Given the description of an element on the screen output the (x, y) to click on. 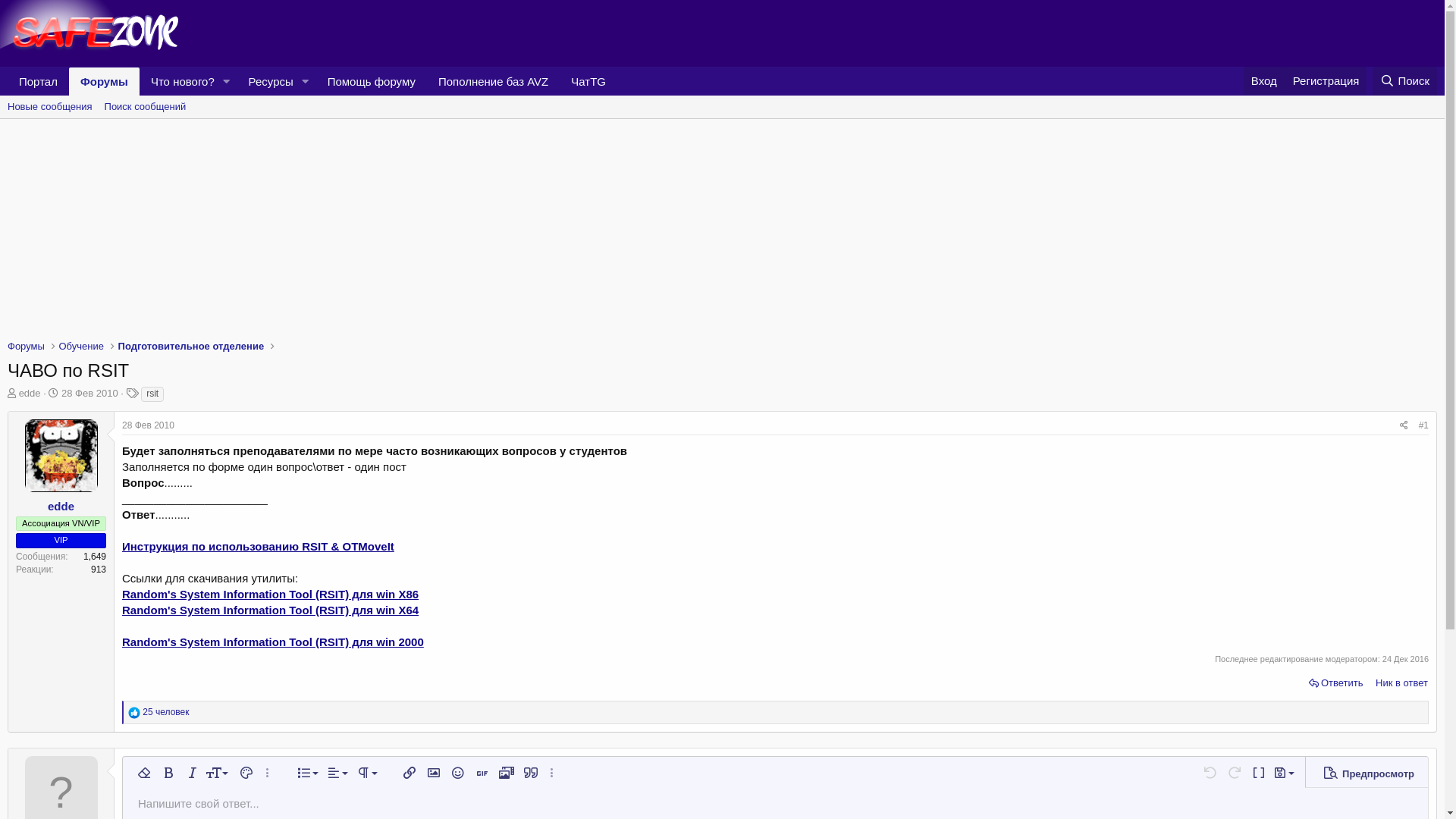
rsit Element type: text (152, 393)
#1 Element type: text (1423, 425)
edde Element type: text (60, 505)
Like Element type: hover (134, 712)
edde Element type: text (29, 392)
